Given the description of an element on the screen output the (x, y) to click on. 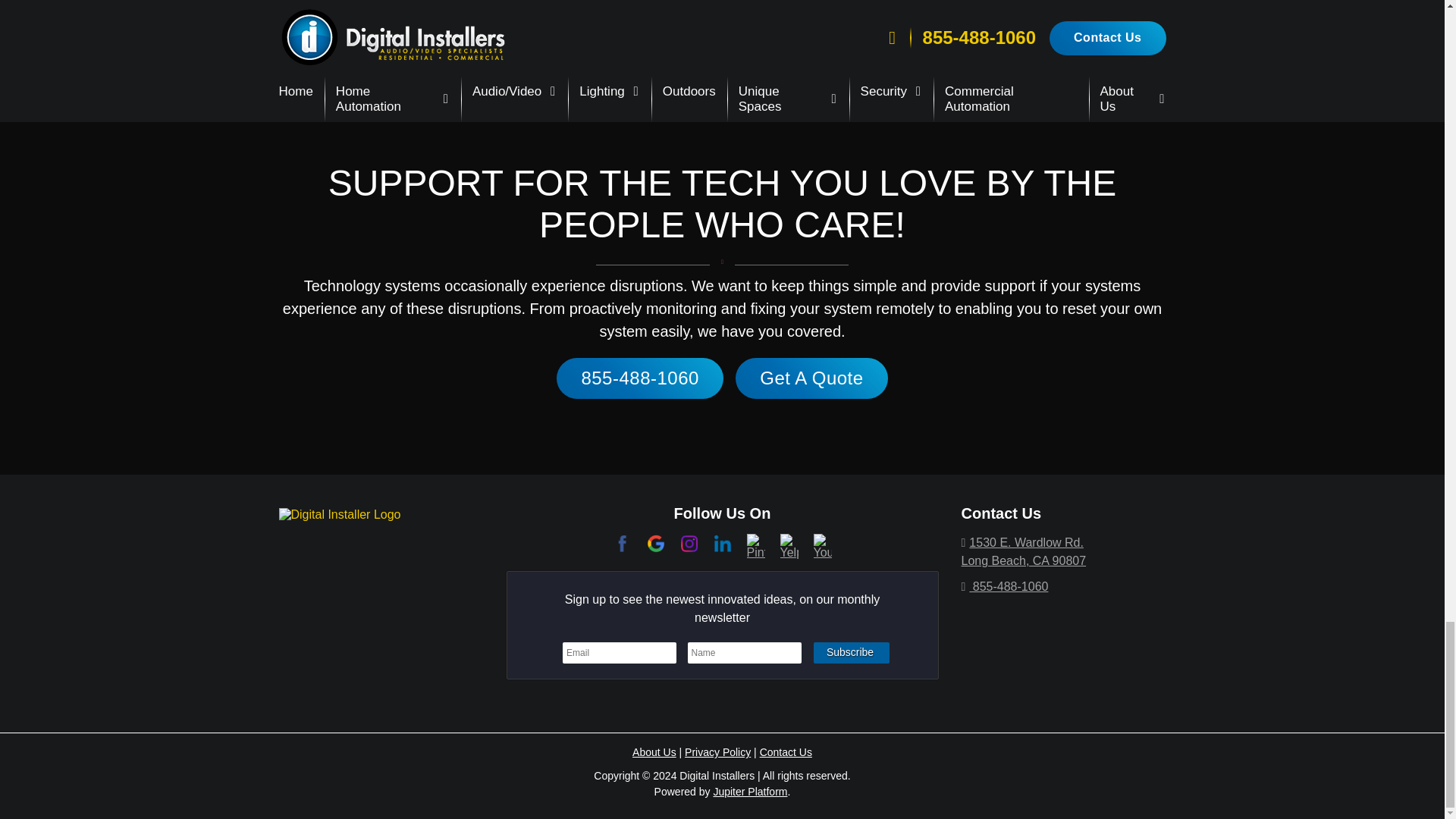
View Pinterest  (754, 545)
View Youtube (821, 545)
View Instagram (688, 542)
View Facebook (621, 542)
View Yelp (787, 545)
View Google (654, 542)
View LinkedIn (721, 542)
Subscribe  (851, 652)
